Given the description of an element on the screen output the (x, y) to click on. 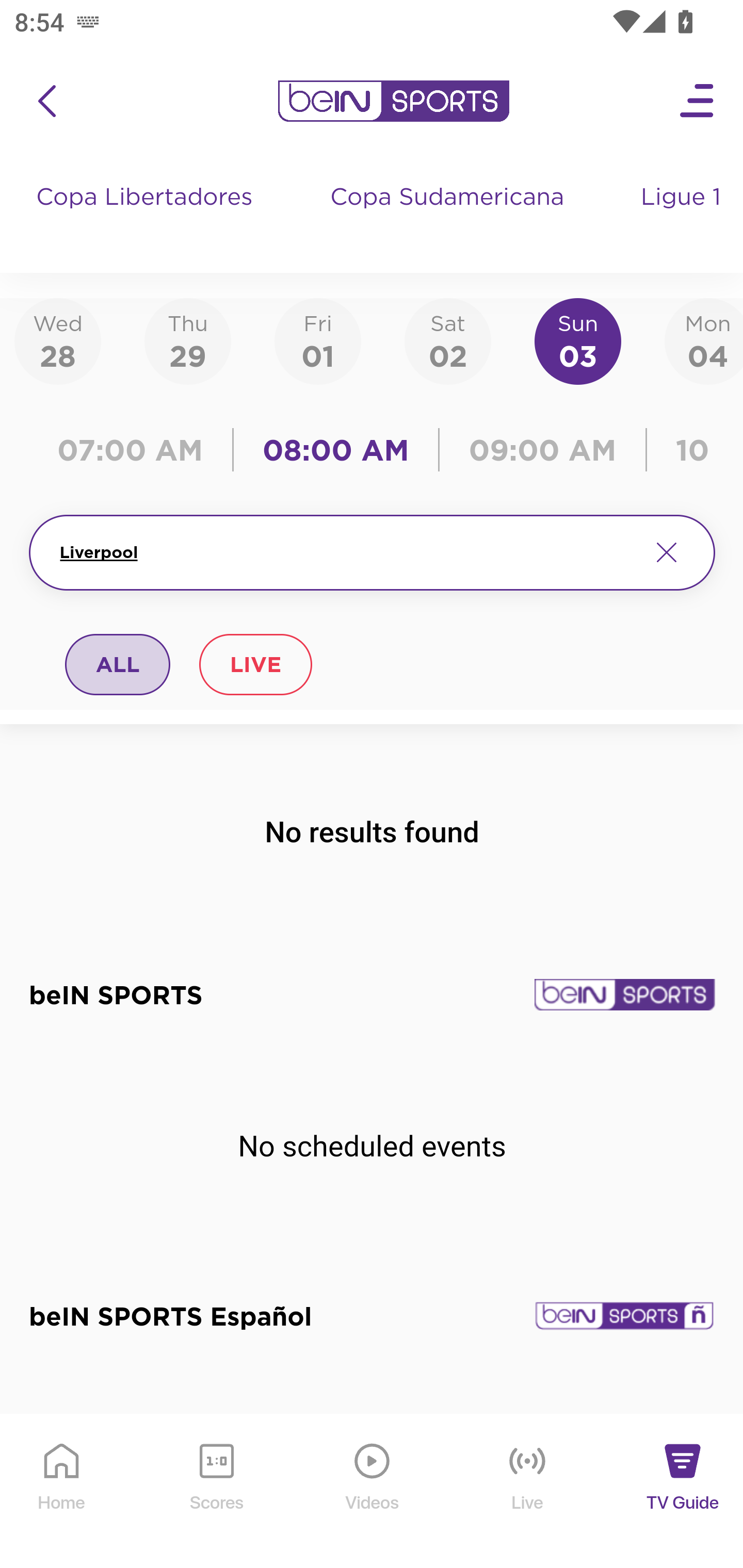
en-us?platform=mobile_android bein logo (392, 101)
icon back (46, 101)
Open Menu Icon (697, 101)
Copa Libertadores (146, 216)
Copa Sudamericana (448, 216)
Ligue 1 (682, 216)
Wed28 (58, 340)
Thu29 (187, 340)
Fri01 (318, 340)
Sat02 (447, 340)
Sun03 (578, 340)
Mon04 (703, 340)
07:00 AM (135, 449)
08:00 AM (336, 449)
09:00 AM (542, 449)
Liverpool (346, 552)
ALL (118, 663)
LIVE (255, 663)
Home Home Icon Home (61, 1491)
Scores Scores Icon Scores (216, 1491)
Videos Videos Icon Videos (372, 1491)
TV Guide TV Guide Icon TV Guide (682, 1491)
